Given the description of an element on the screen output the (x, y) to click on. 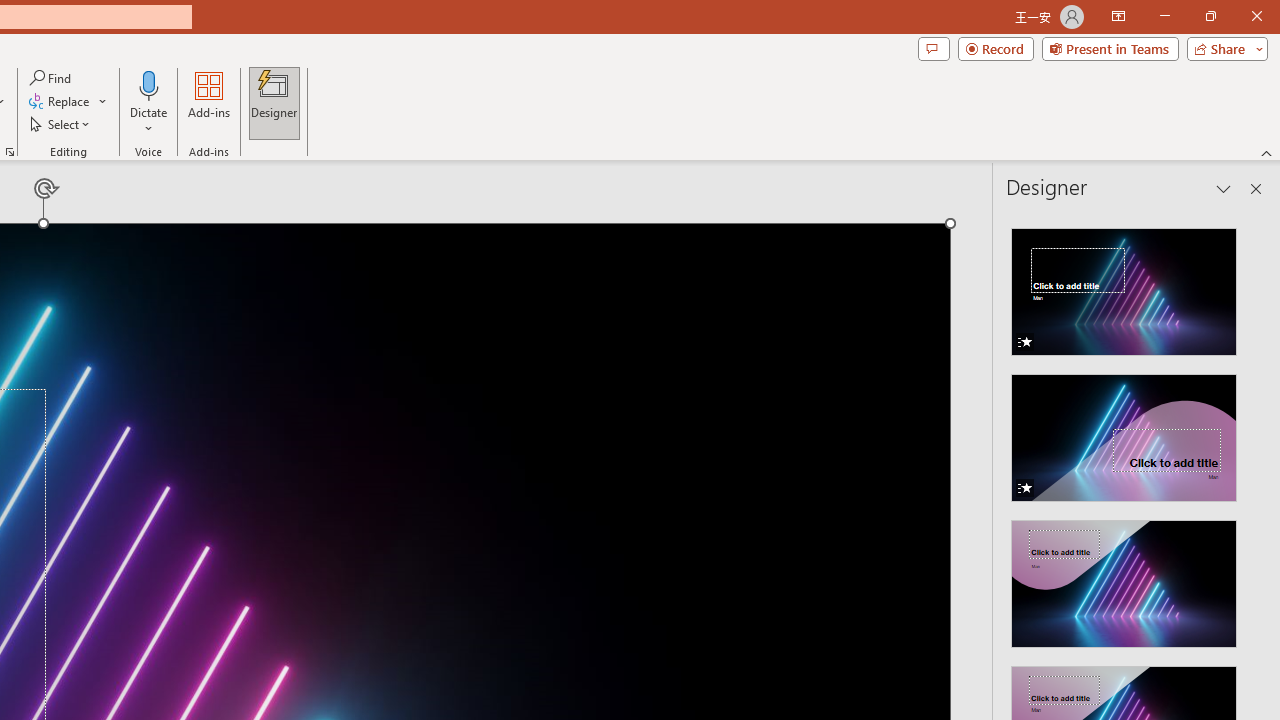
Design Idea with Animation (1124, 431)
